Given the description of an element on the screen output the (x, y) to click on. 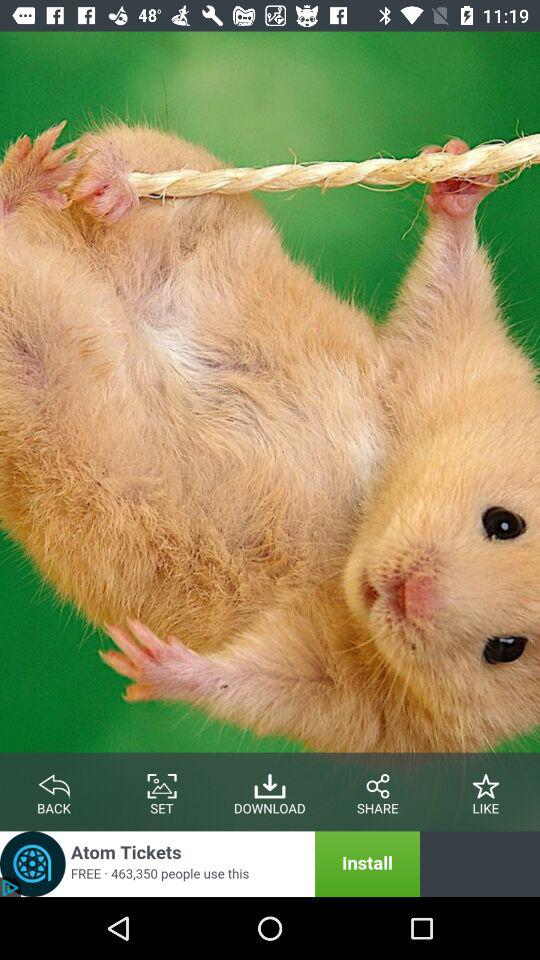
like the page (485, 782)
